Given the description of an element on the screen output the (x, y) to click on. 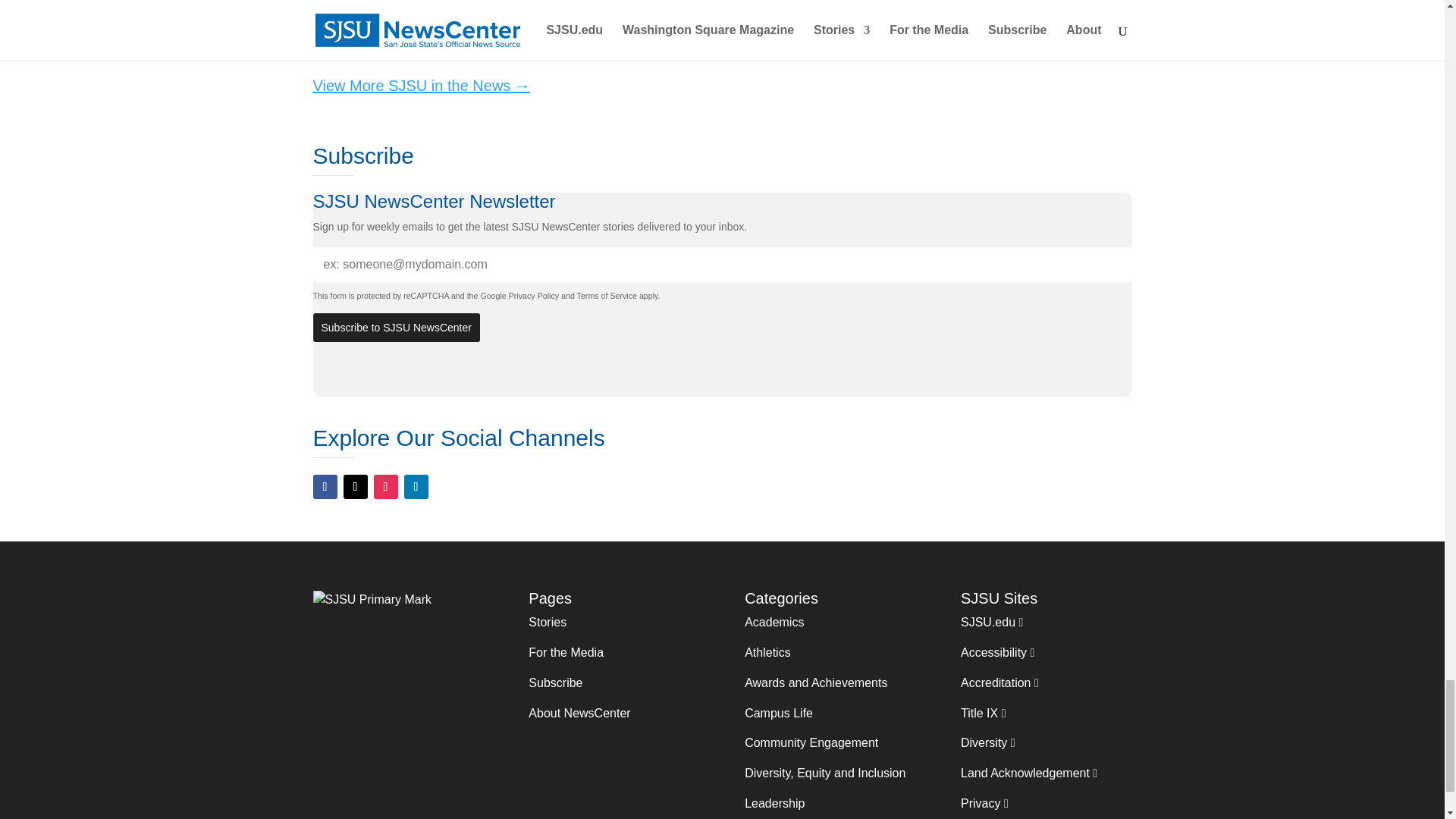
Subscribe to SJSU NewsCenter (396, 327)
Follow on Facebook (324, 486)
Follow on LinkedIn (415, 486)
Follow on X (354, 486)
Follow on Instagram (384, 486)
